Given the description of an element on the screen output the (x, y) to click on. 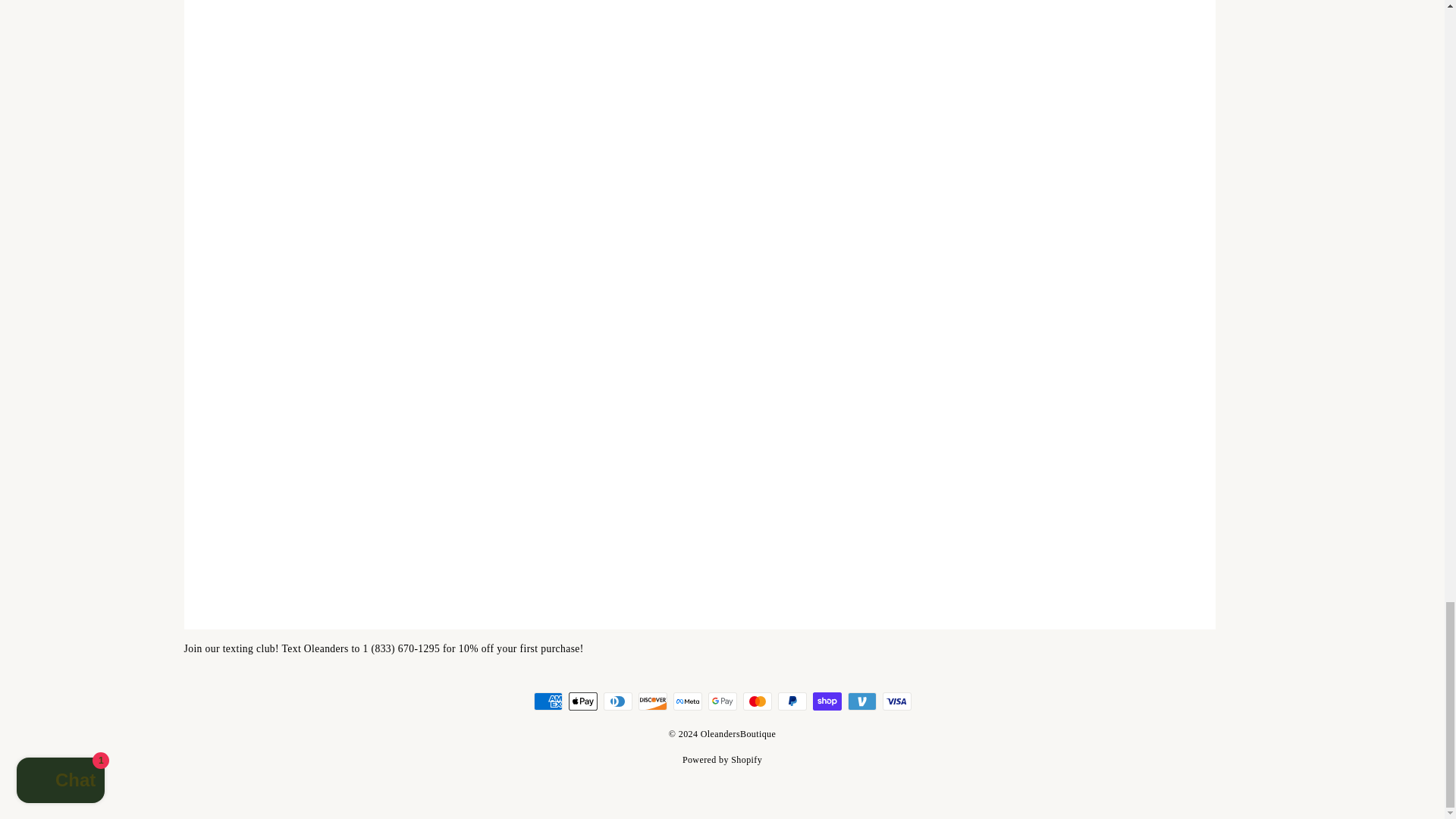
Venmo (861, 701)
PayPal (791, 701)
Diners Club (617, 701)
Shop Pay (826, 701)
Mastercard (756, 701)
Visa (896, 701)
Meta Pay (686, 701)
Google Pay (721, 701)
Discover (652, 701)
Apple Pay (582, 701)
American Express (548, 701)
